Given the description of an element on the screen output the (x, y) to click on. 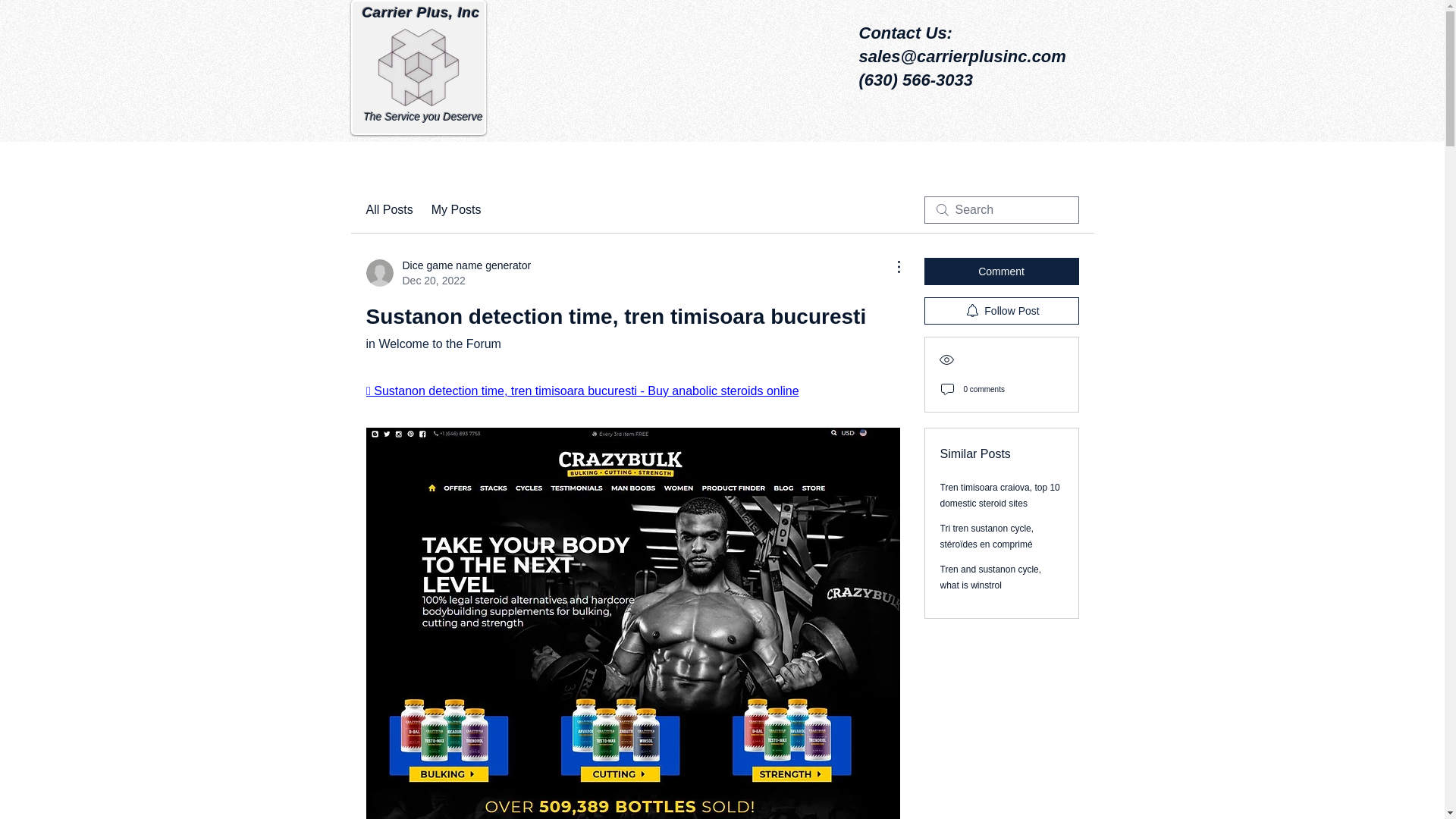
Tren timisoara craiova, top 10 domestic steroid sites (999, 495)
My Posts (455, 209)
All Posts (388, 209)
Tren and sustanon cycle, what is winstrol (448, 272)
in Welcome to the Forum (991, 577)
Follow Post (432, 343)
Comment (1000, 310)
